Given the description of an element on the screen output the (x, y) to click on. 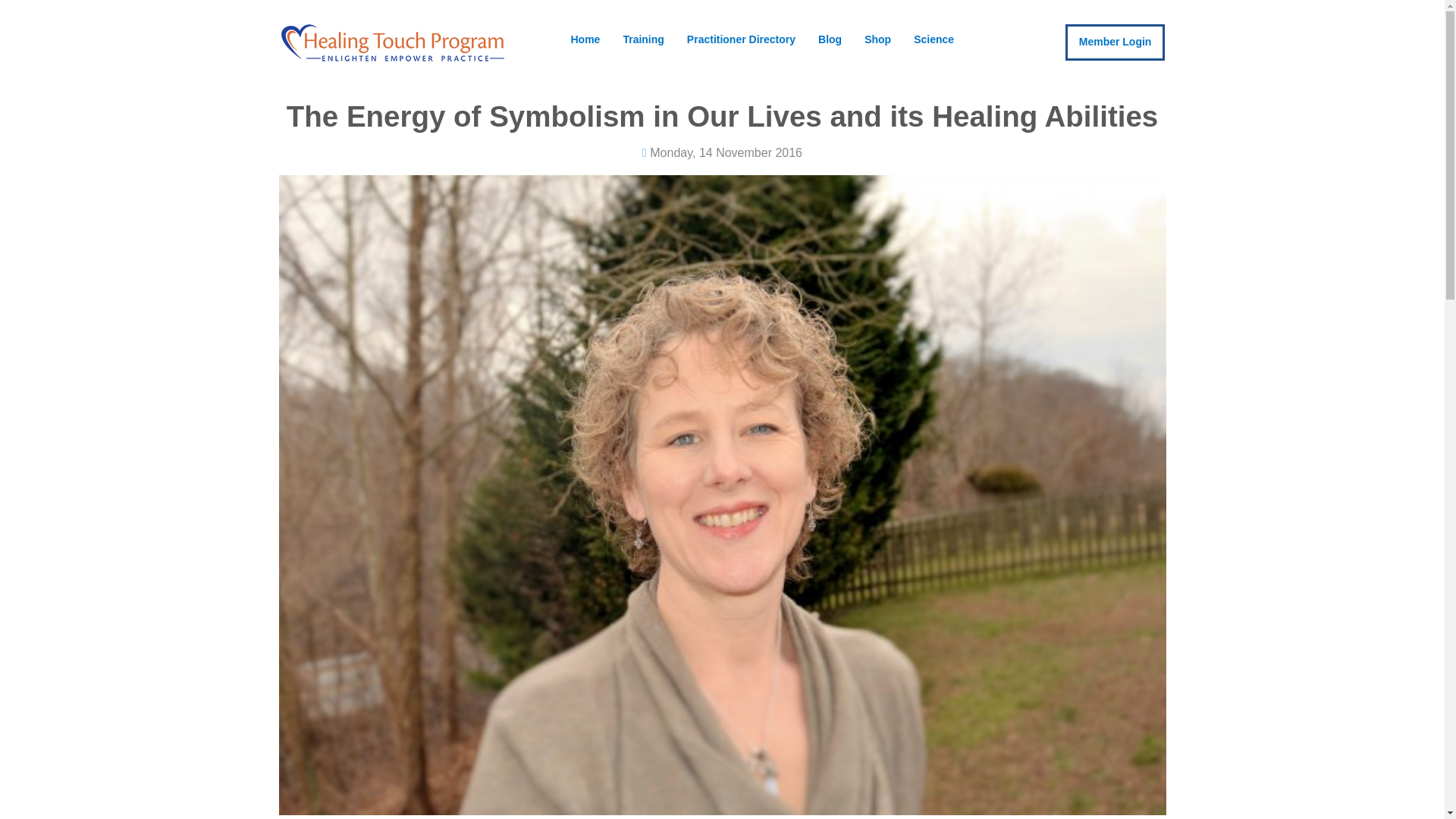
Home (585, 40)
Shop (877, 40)
Science (933, 40)
Blog (829, 40)
Member Login (1115, 42)
Practitioner Directory (740, 40)
Training (643, 40)
